Given the description of an element on the screen output the (x, y) to click on. 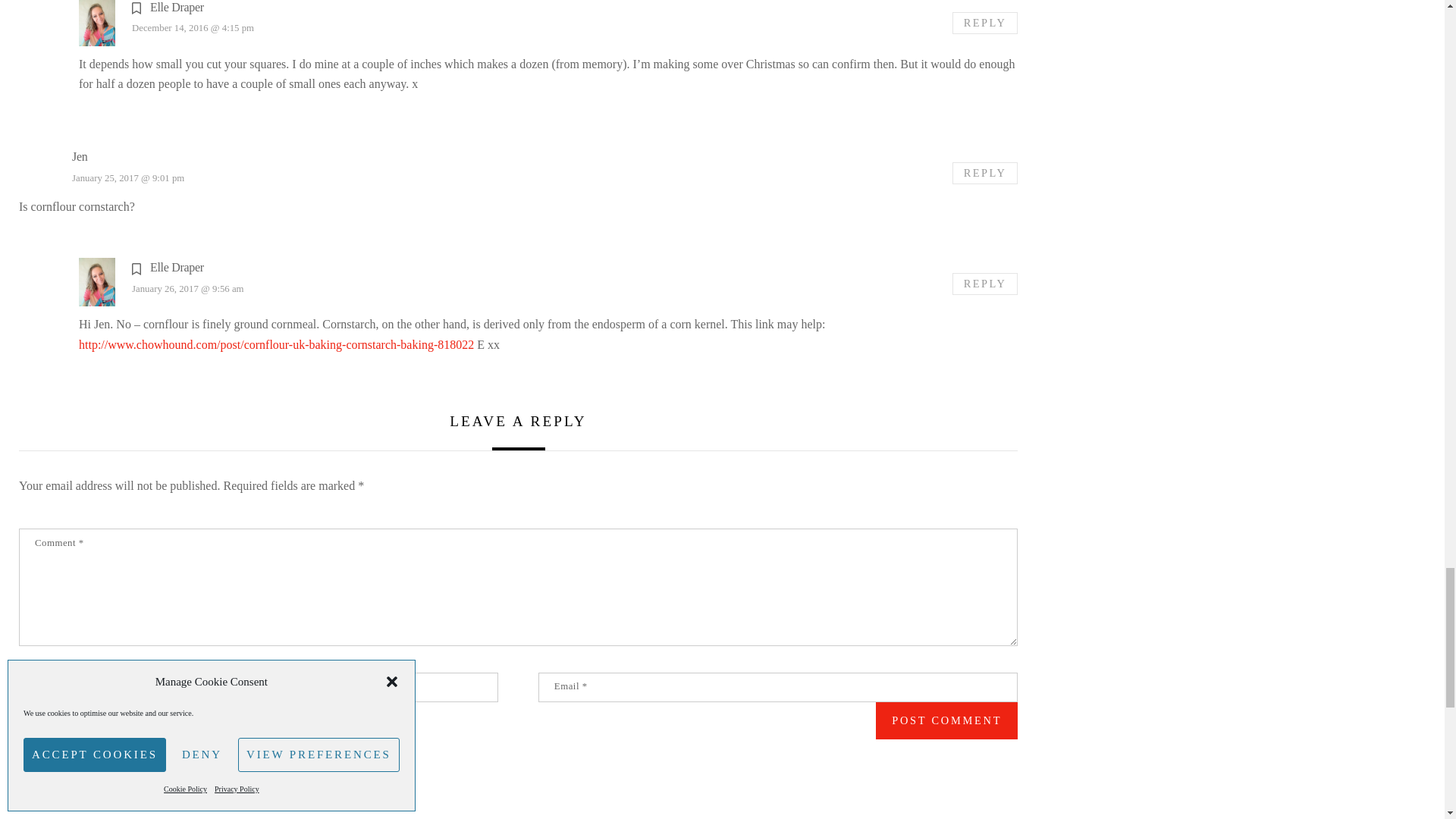
Post Comment (946, 720)
